Given the description of an element on the screen output the (x, y) to click on. 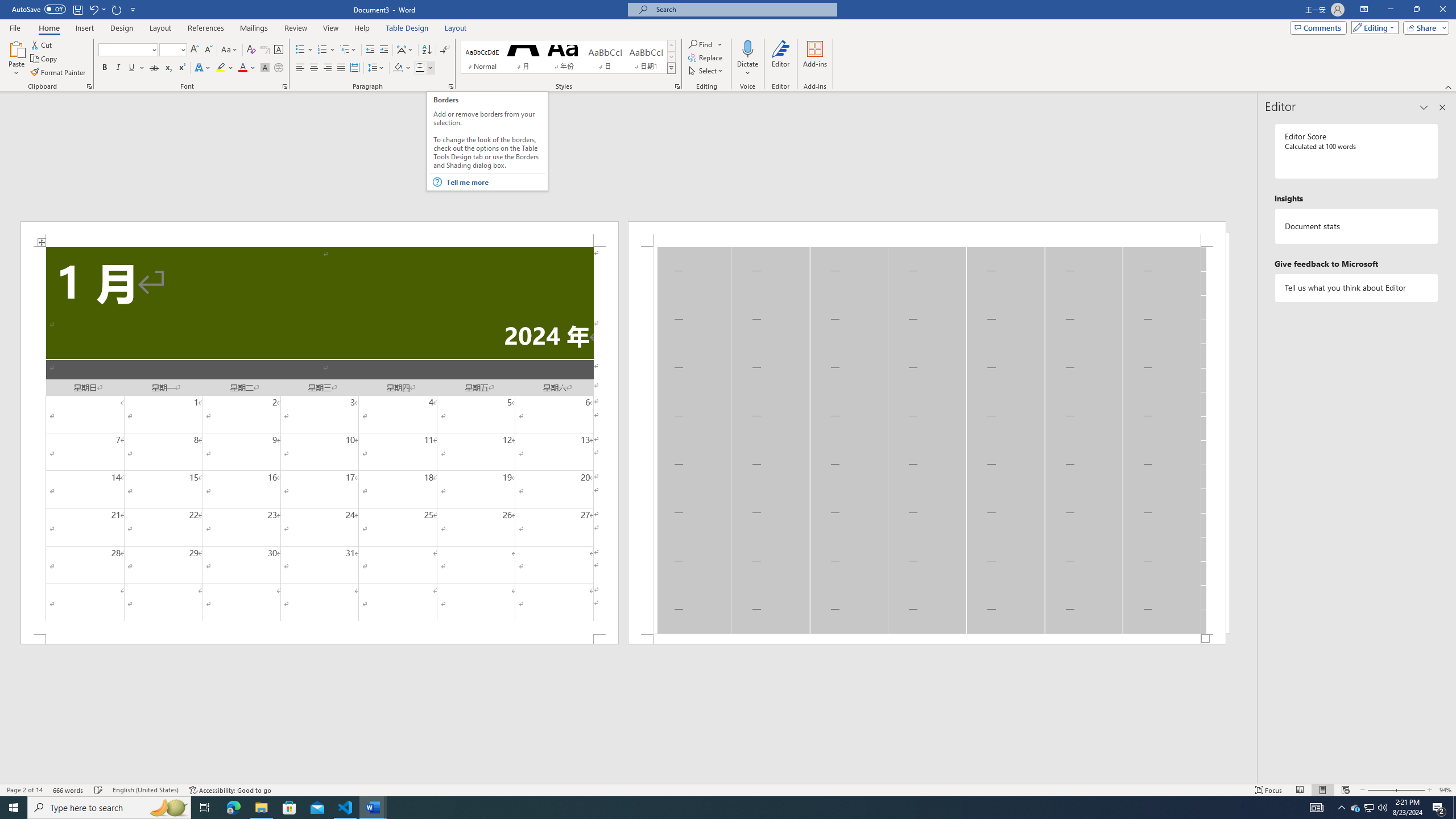
Phonetic Guide... (264, 49)
Italic (118, 67)
Grow Font (193, 49)
Character Shading (264, 67)
Font Color RGB(255, 0, 0) (241, 67)
Page 1 content (319, 439)
Editor (780, 58)
